Given the description of an element on the screen output the (x, y) to click on. 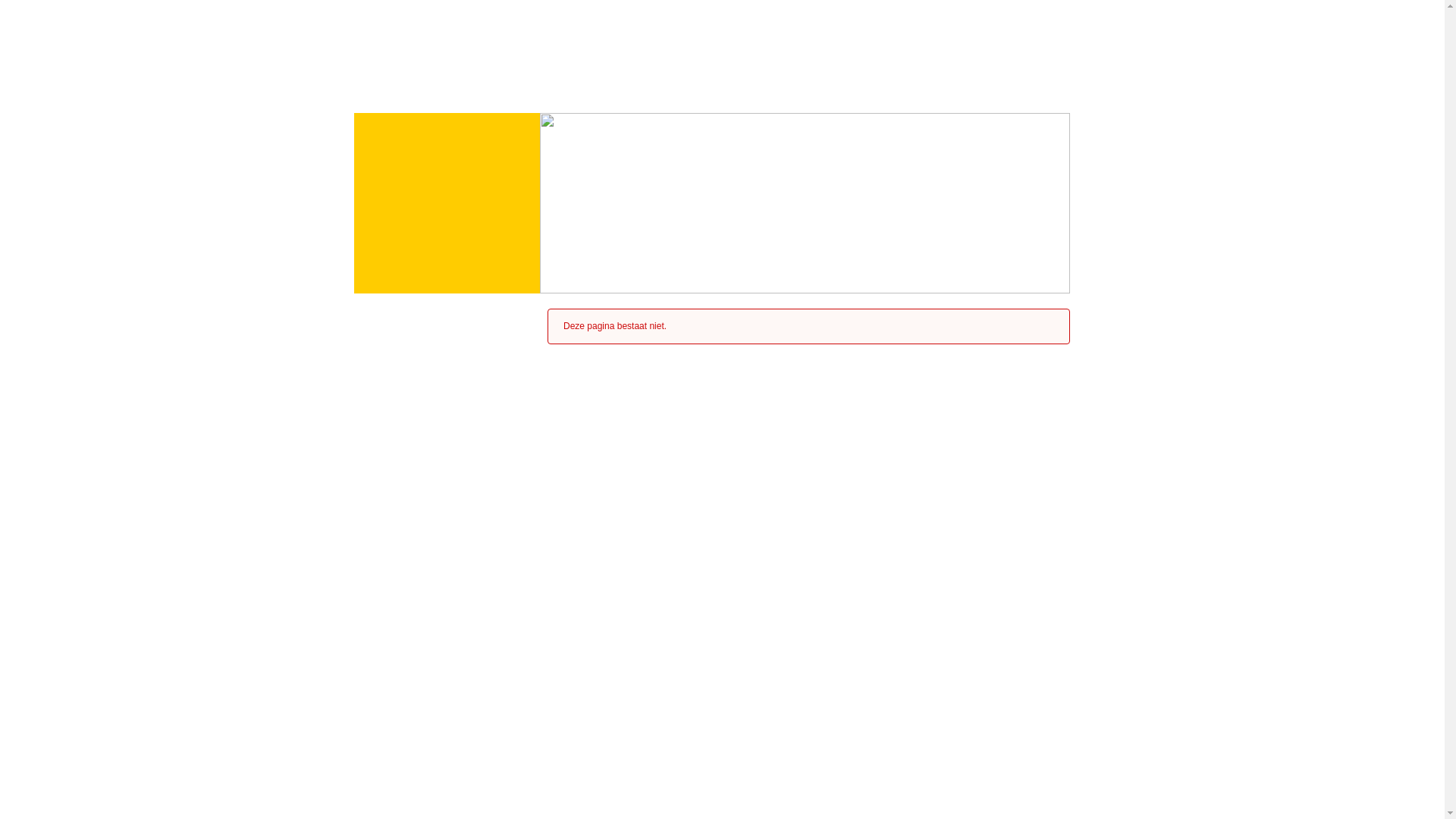
Cano Element type: text (1019, 39)
Privacyverklaring Element type: text (671, 751)
WhatsUp Element type: text (655, 728)
Bethanie Element type: text (448, 40)
info@bethaniekortrijk.be Element type: text (420, 751)
